Given the description of an element on the screen output the (x, y) to click on. 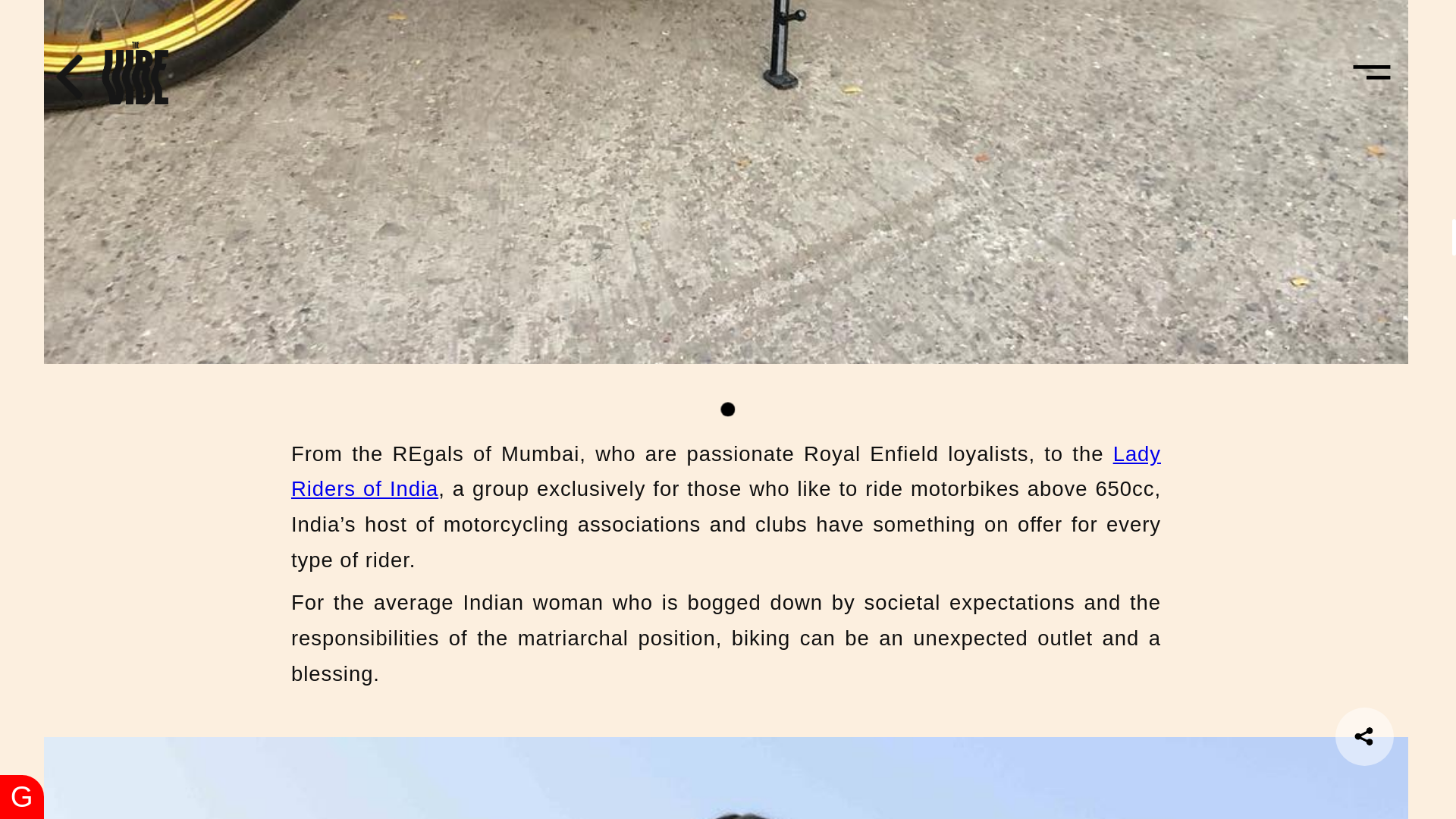
Lady Riders of India (725, 471)
